Given the description of an element on the screen output the (x, y) to click on. 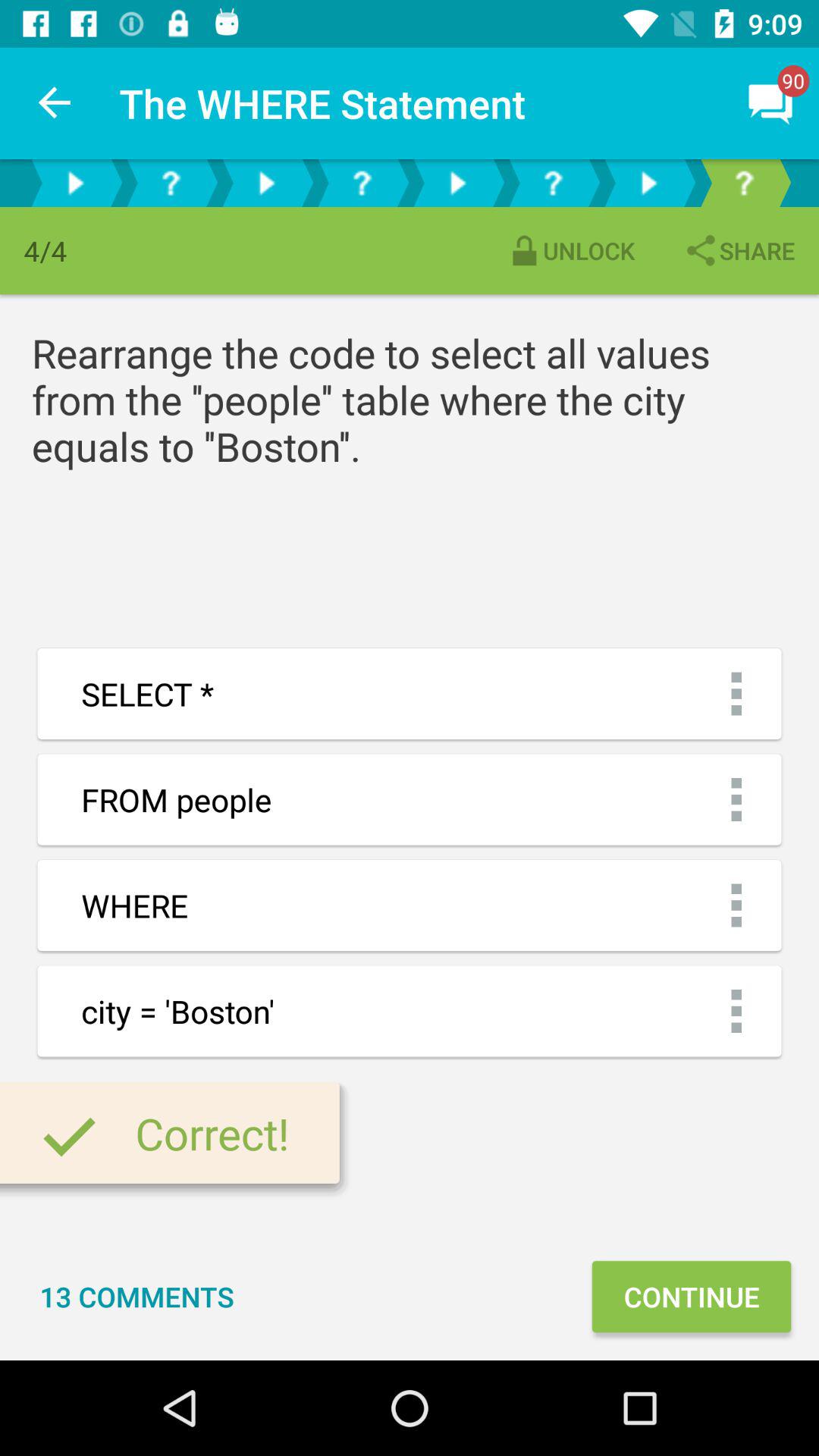
view a video (457, 183)
